Given the description of an element on the screen output the (x, y) to click on. 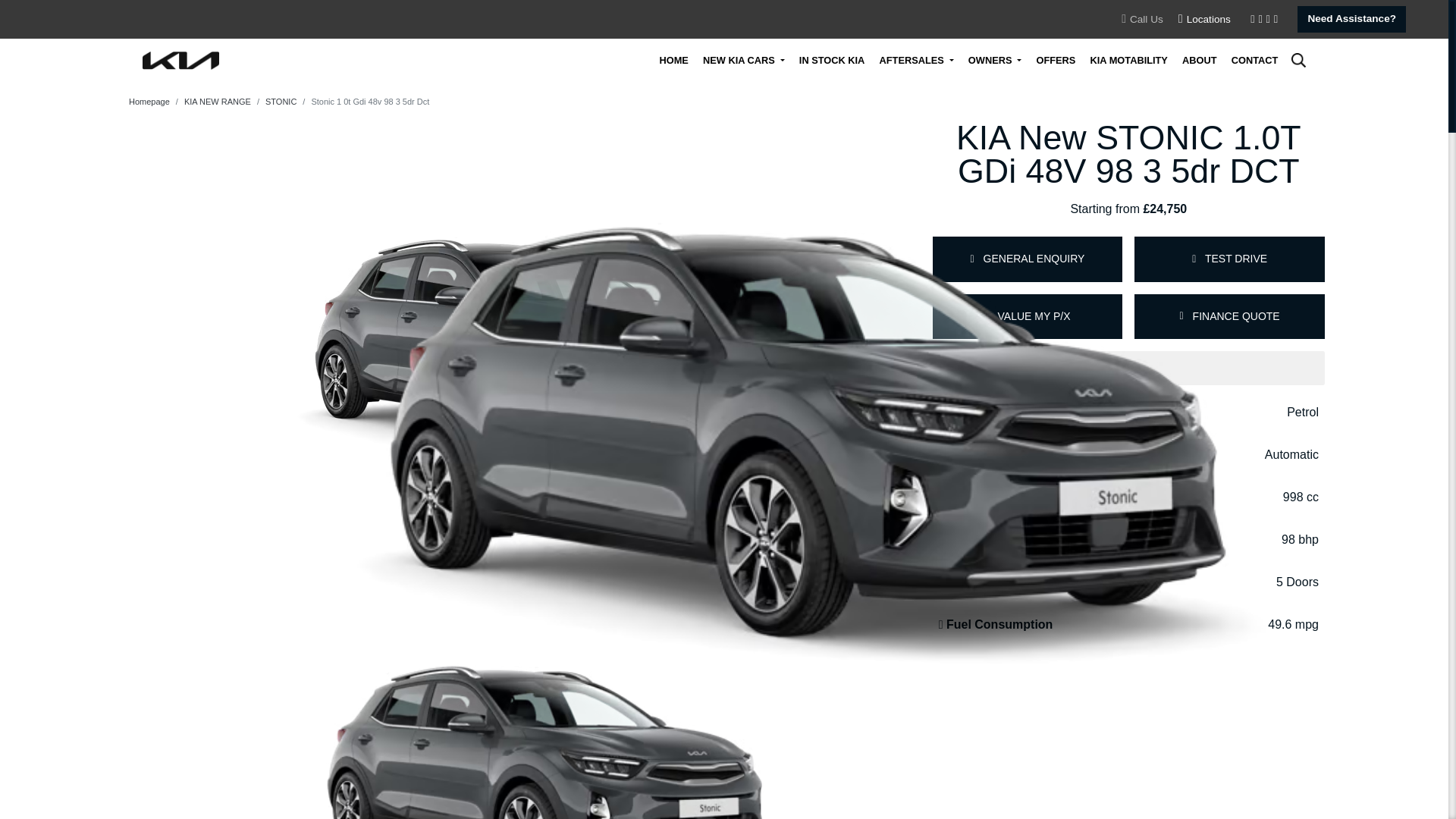
Locations (1203, 18)
ABOUT (1199, 59)
OWNERS (994, 59)
Home (673, 59)
OFFERS (1056, 59)
Need Assistance? (1351, 18)
CONTACT (1254, 59)
AFTERSALES (916, 59)
Homepage (149, 101)
In Stock Kia (832, 59)
NEW KIA CARS (743, 59)
HOME (673, 59)
STONIC (273, 101)
IN STOCK KIA (832, 59)
Gillanders (180, 59)
